Given the description of an element on the screen output the (x, y) to click on. 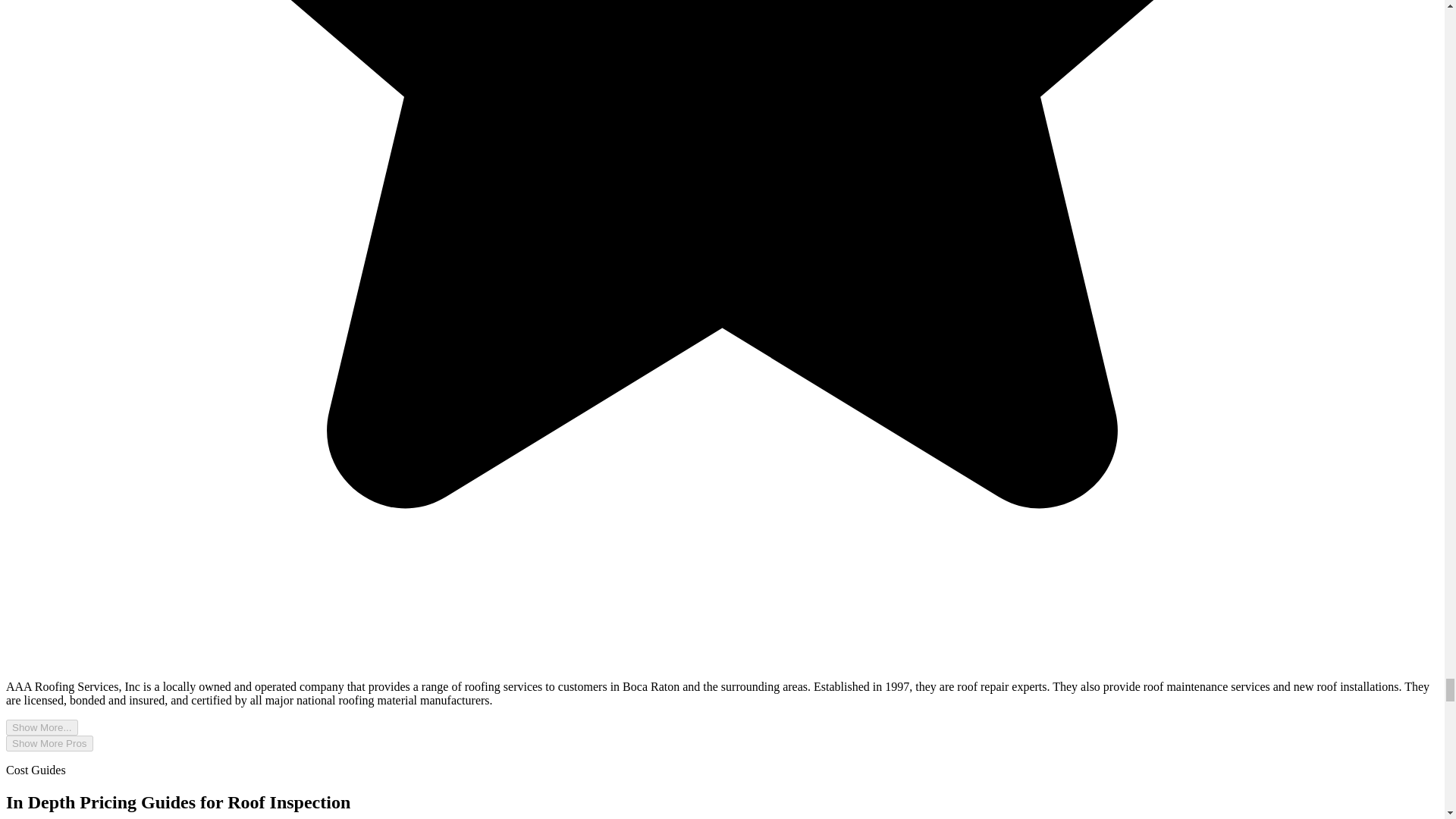
Show More... (41, 727)
Show More Pros (49, 743)
